Given the description of an element on the screen output the (x, y) to click on. 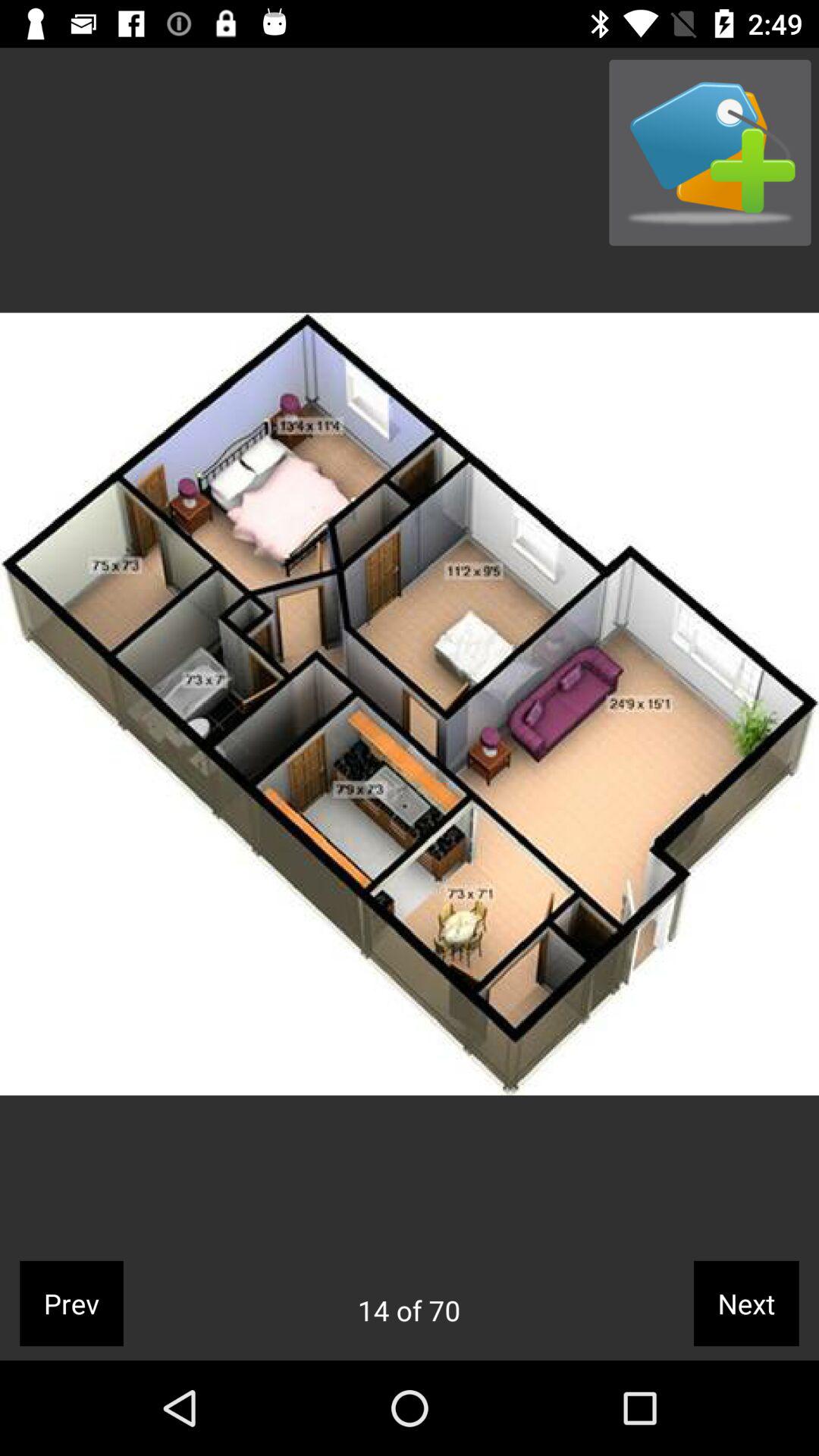
select the icon next to the 14 of 70 item (746, 1303)
